Given the description of an element on the screen output the (x, y) to click on. 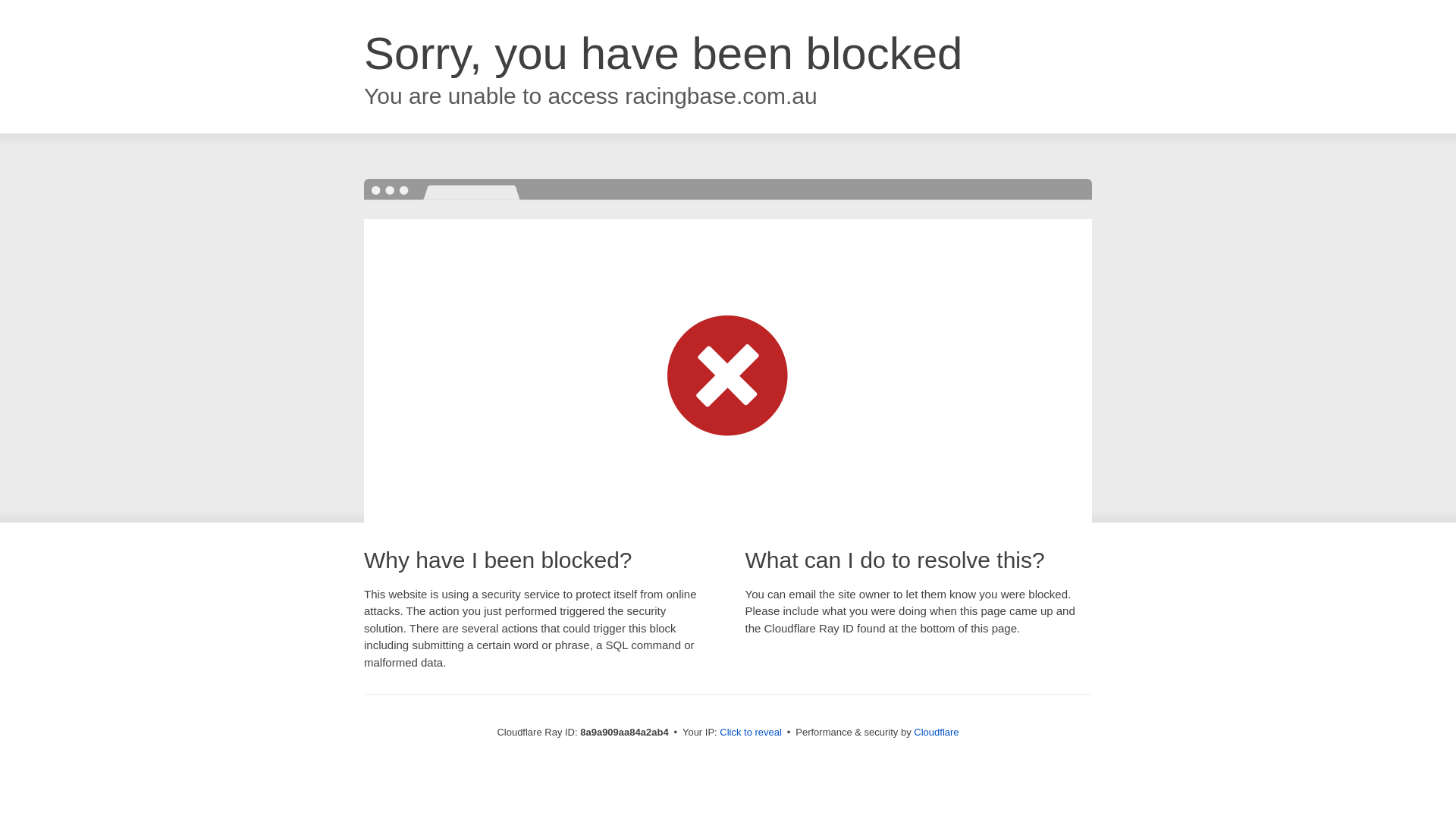
Click to reveal (750, 732)
Cloudflare (936, 731)
